Given the description of an element on the screen output the (x, y) to click on. 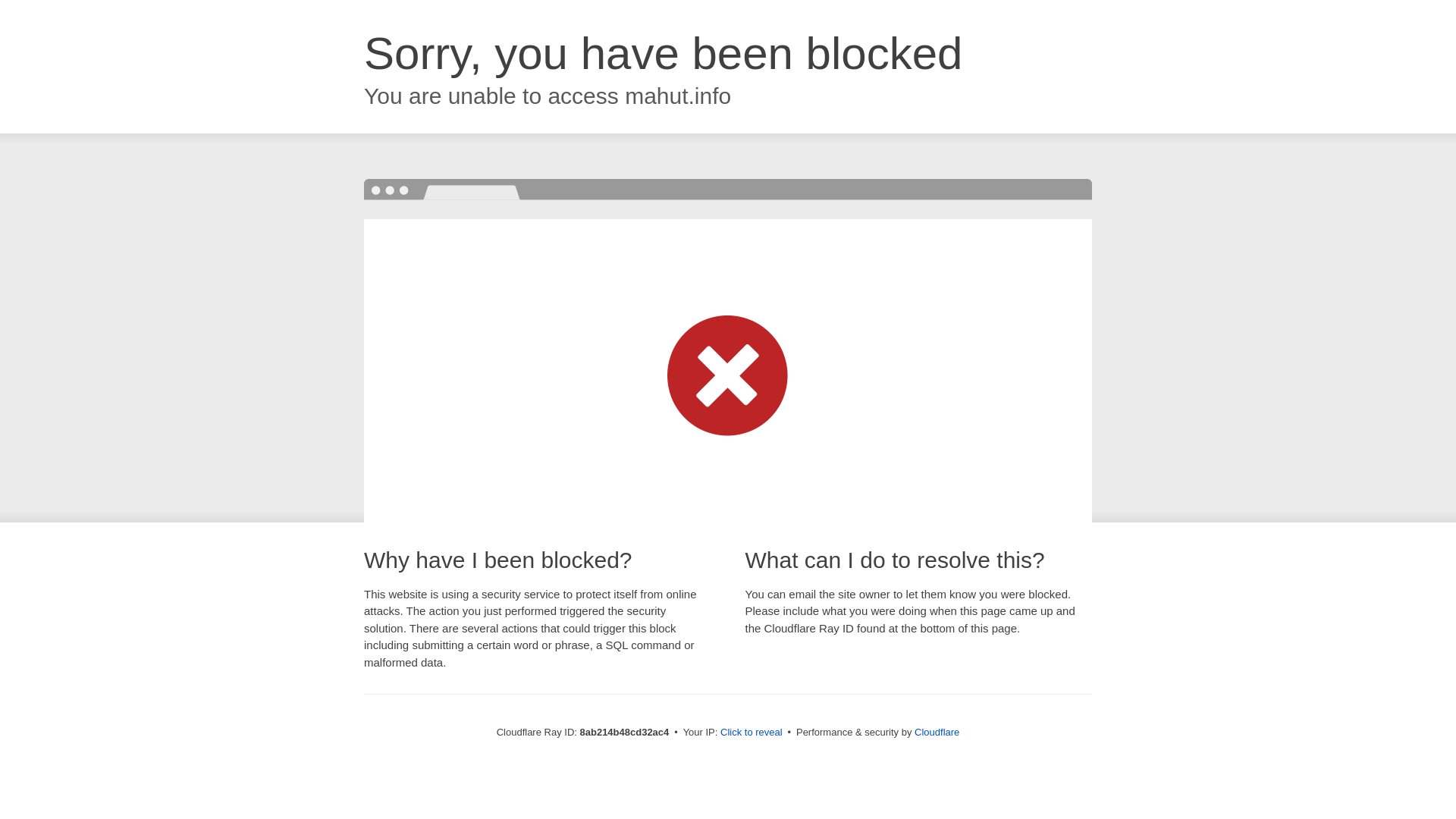
Click to reveal (751, 732)
Cloudflare (936, 731)
